Given the description of an element on the screen output the (x, y) to click on. 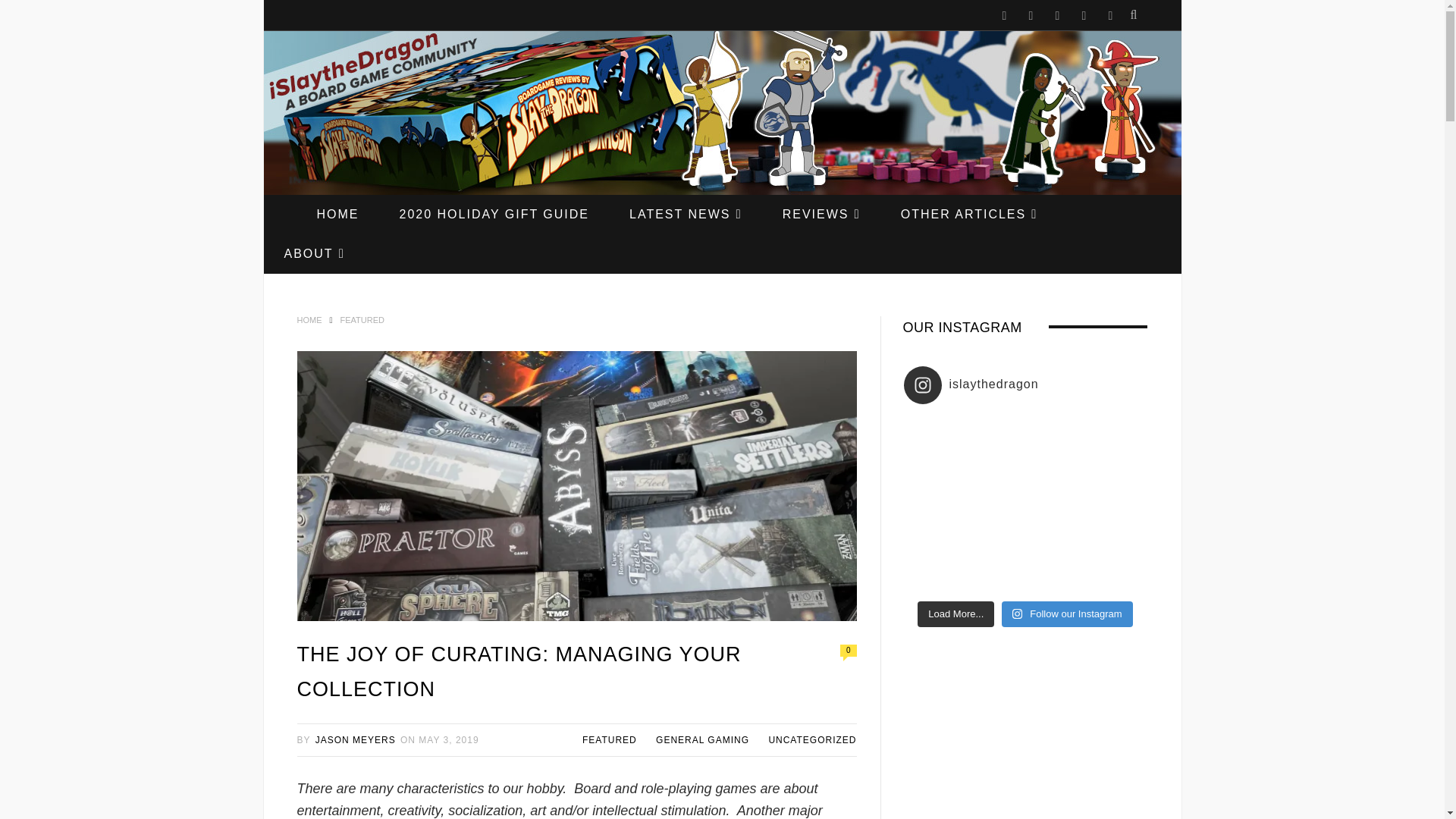
HOME (337, 214)
Posts by Jason Meyers (355, 739)
LATEST NEWS (685, 214)
REVIEWS (821, 214)
2020 HOLIDAY GIFT GUIDE (493, 214)
